Given the description of an element on the screen output the (x, y) to click on. 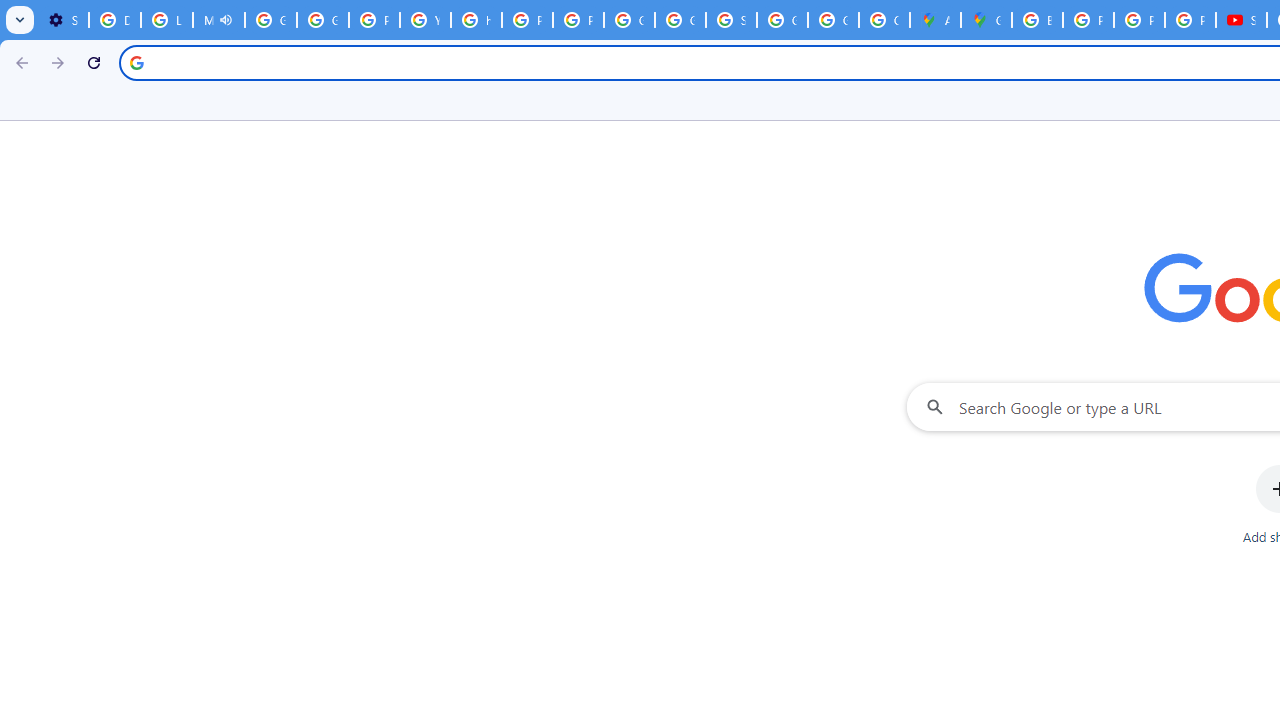
Create your Google Account (884, 20)
Privacy Help Center - Policies Help (1087, 20)
